Given the description of an element on the screen output the (x, y) to click on. 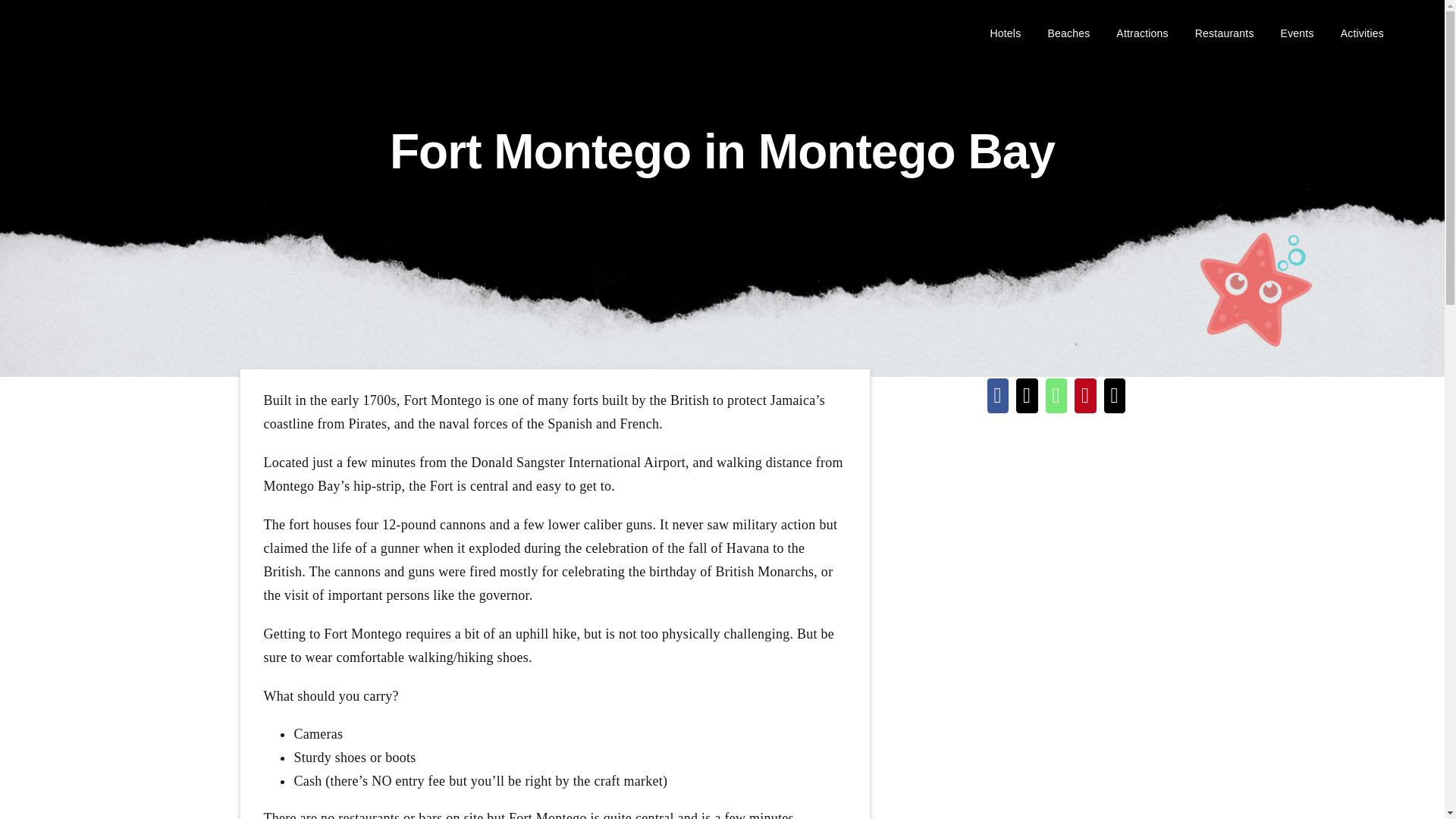
Restaurants (1224, 31)
